Given the description of an element on the screen output the (x, y) to click on. 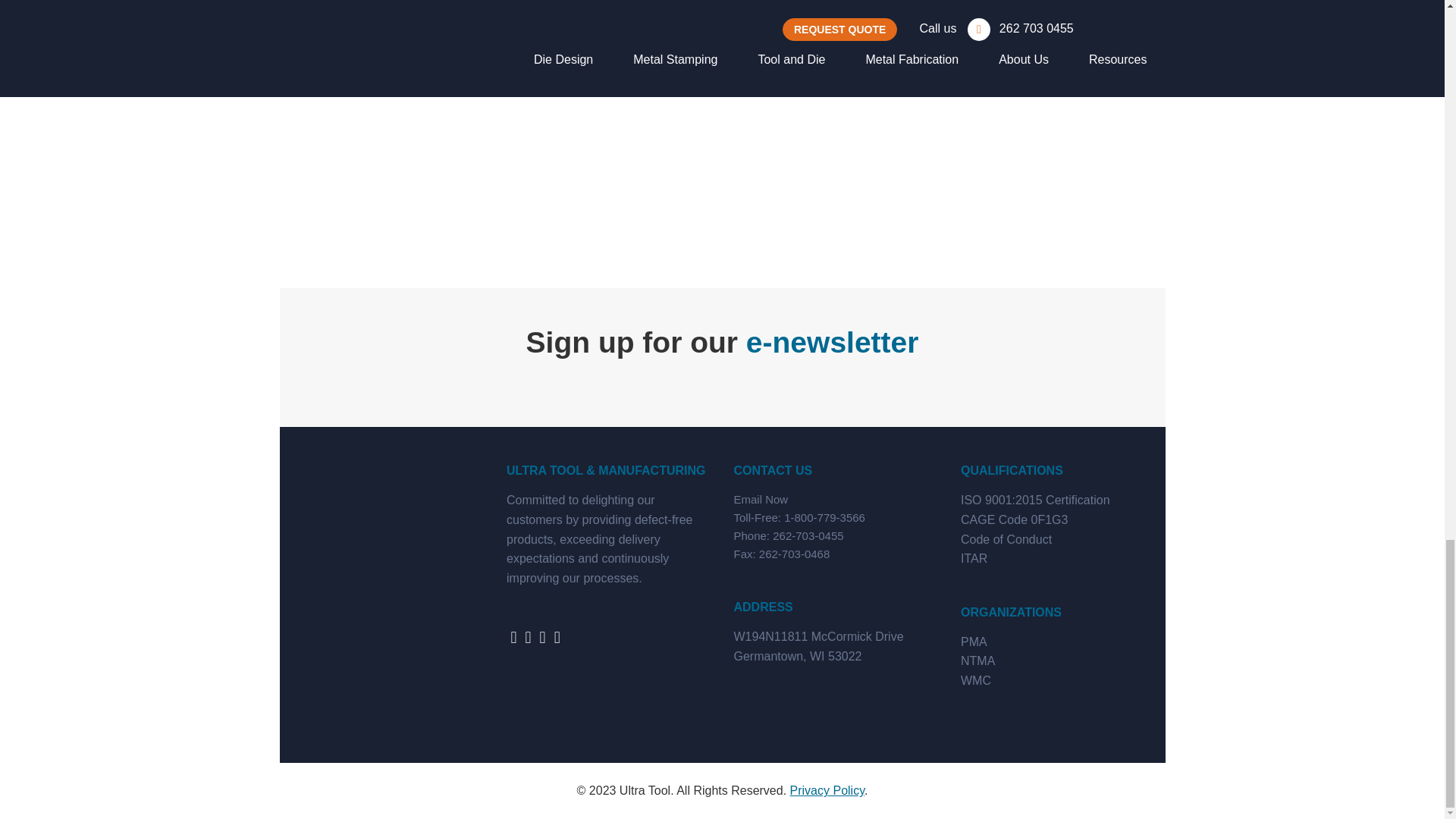
1-800-779-3566 (824, 517)
262-703-0455 (808, 535)
Email Now (761, 499)
